Given the description of an element on the screen output the (x, y) to click on. 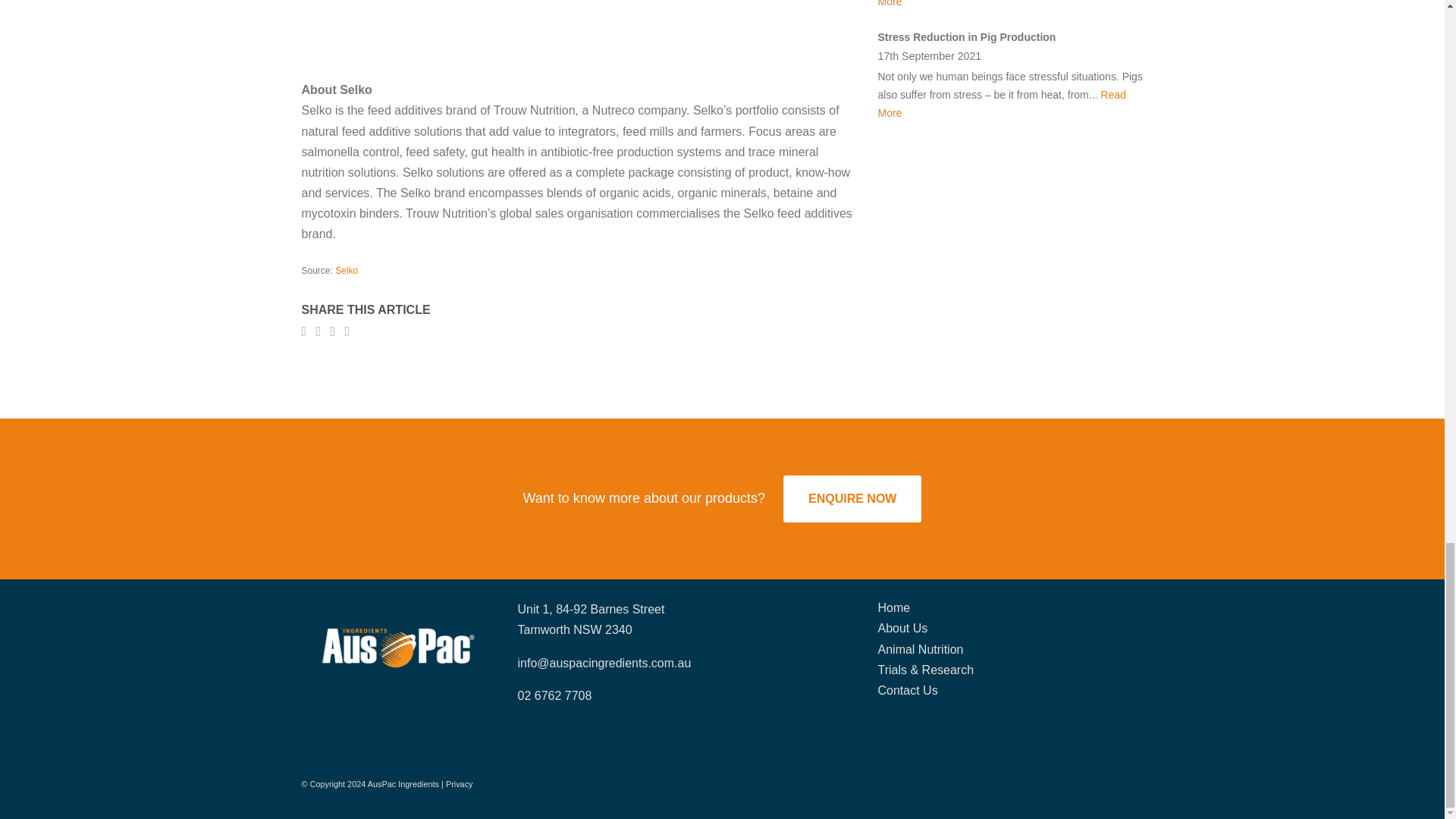
Selko (346, 270)
